Given the description of an element on the screen output the (x, y) to click on. 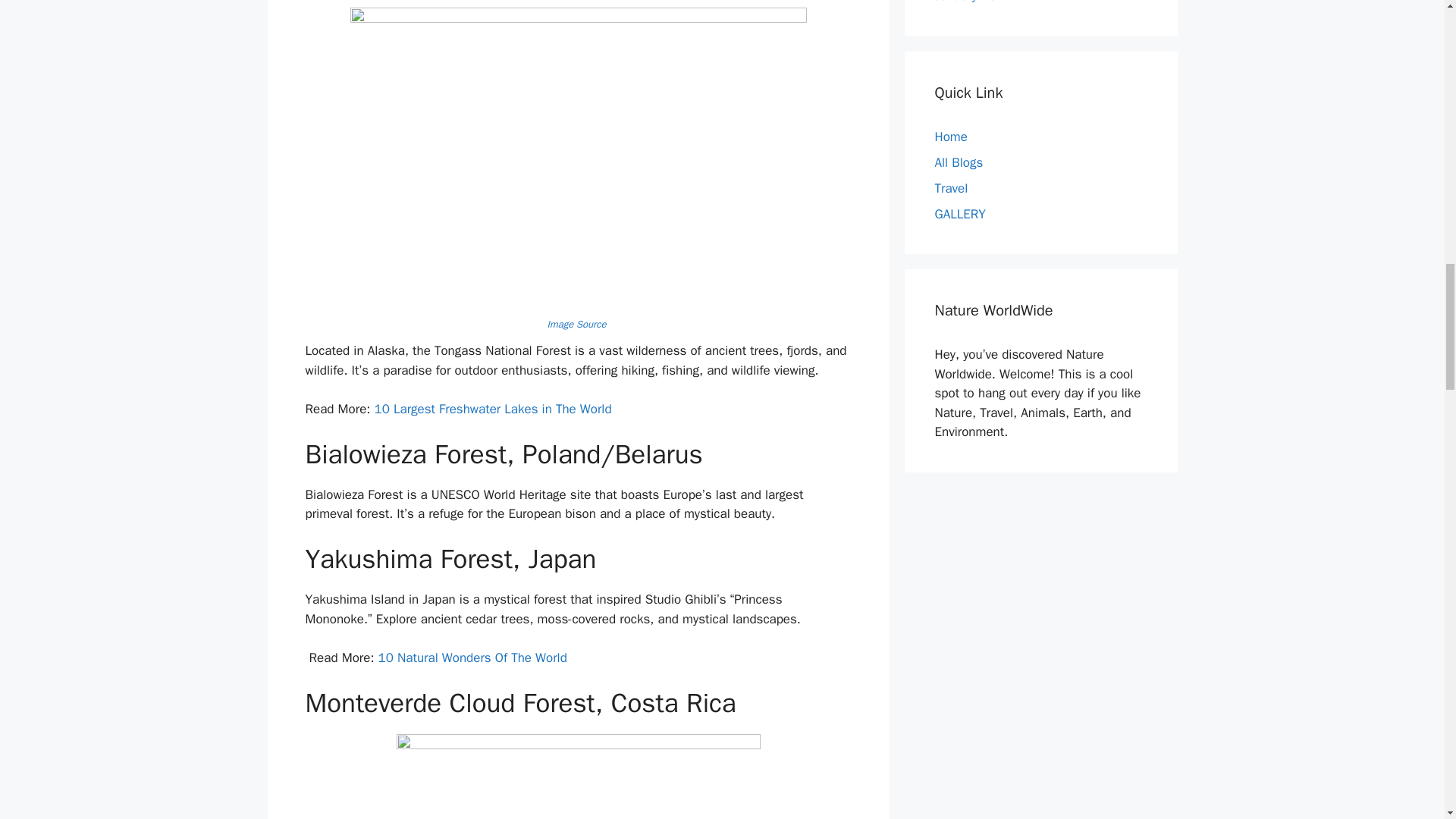
Image Source  (578, 323)
10 Natural Wonders Of The World (472, 657)
10 Largest Freshwater Lakes in The World (492, 408)
